Given the description of an element on the screen output the (x, y) to click on. 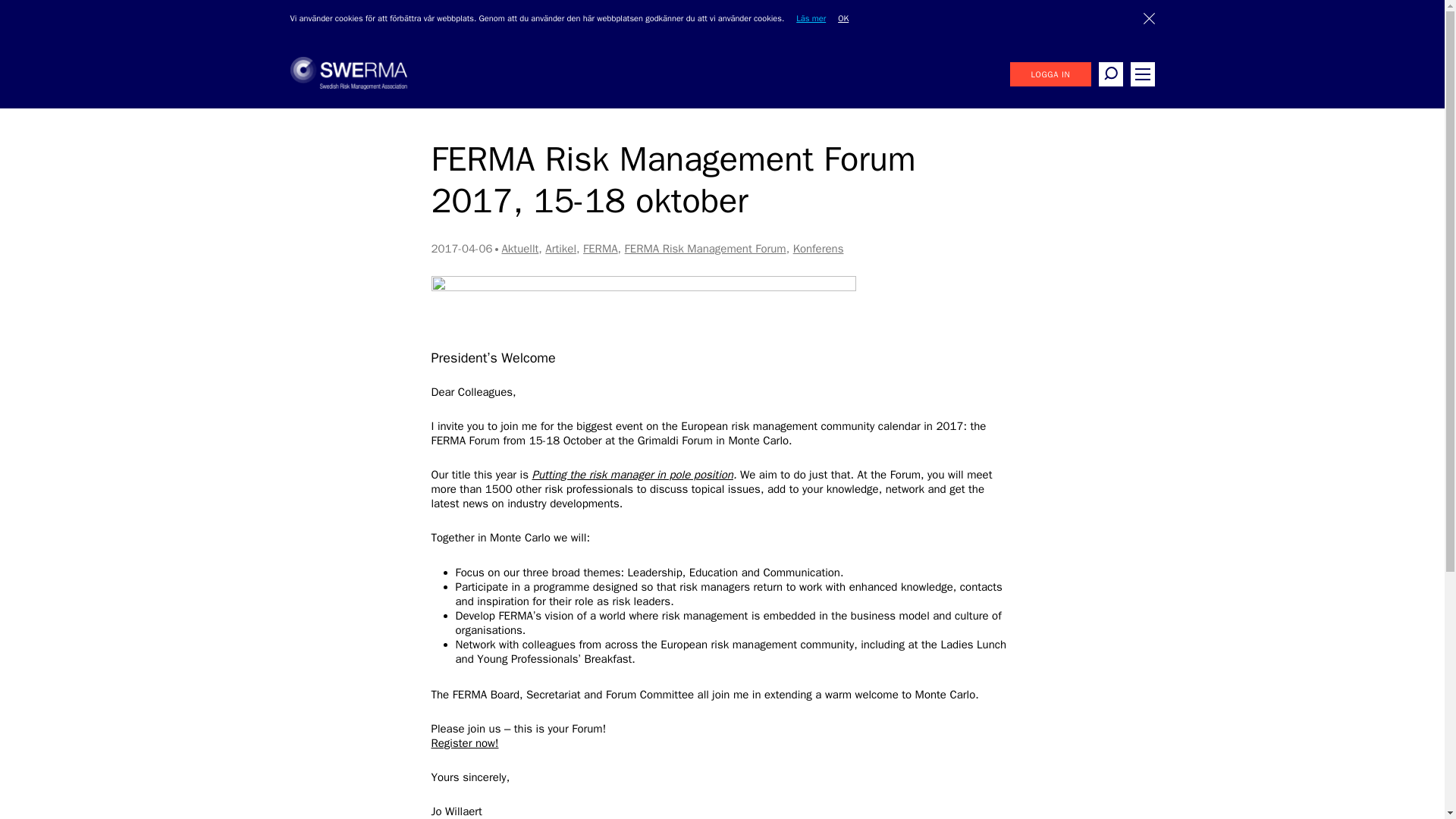
FERMA Risk Management Forum (705, 248)
Putting the risk manager in pole position (632, 474)
Artikel (560, 248)
OK (849, 17)
Aktuellt (519, 248)
LOGGA IN (1050, 74)
FERMA (600, 248)
Swerma (347, 84)
Konferens (818, 248)
Register now! (463, 743)
